Given the description of an element on the screen output the (x, y) to click on. 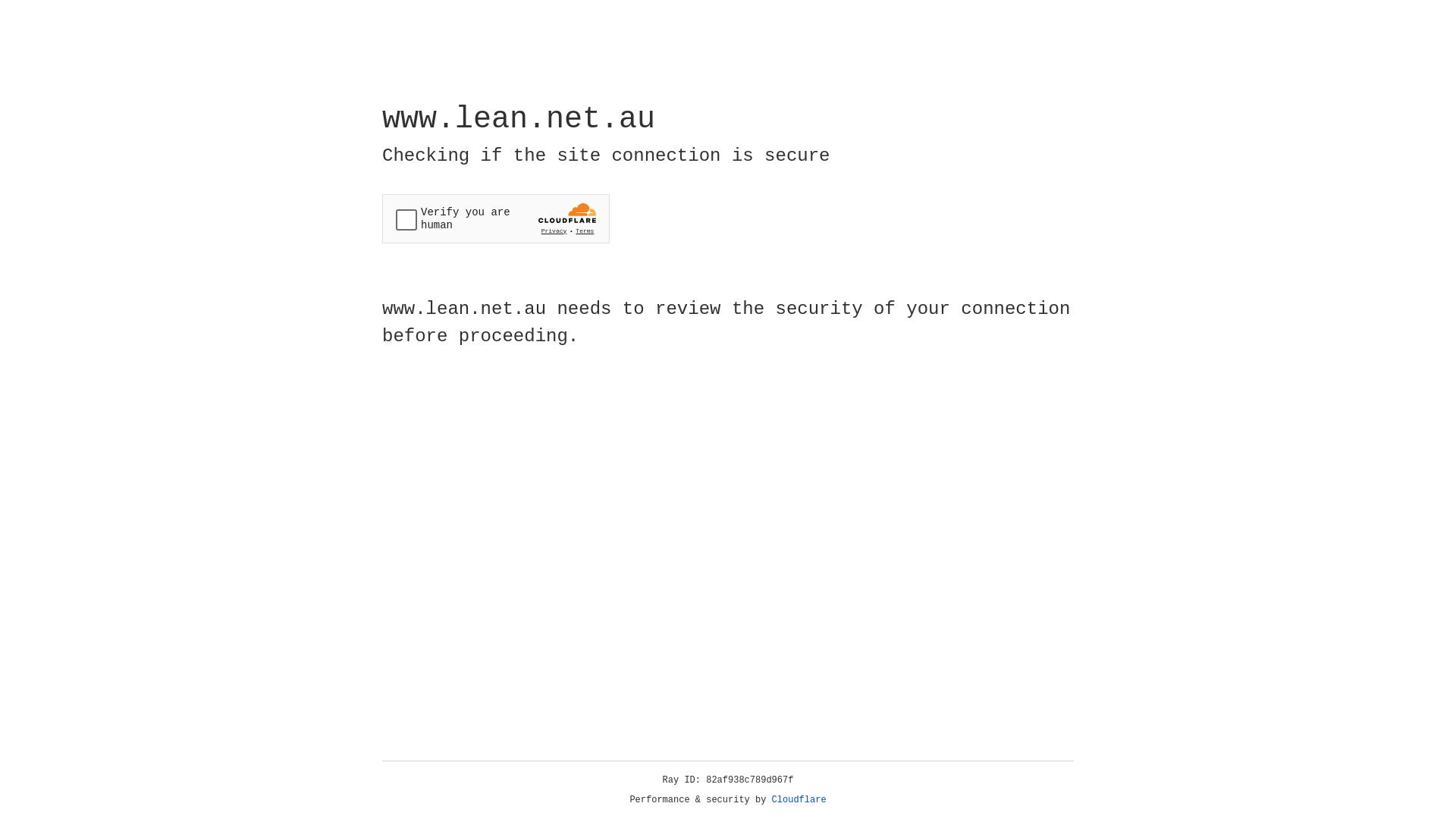
Widget containing a Cloudflare security challenge Element type: hover (495, 218)
Cloudflare Element type: text (798, 799)
